Given the description of an element on the screen output the (x, y) to click on. 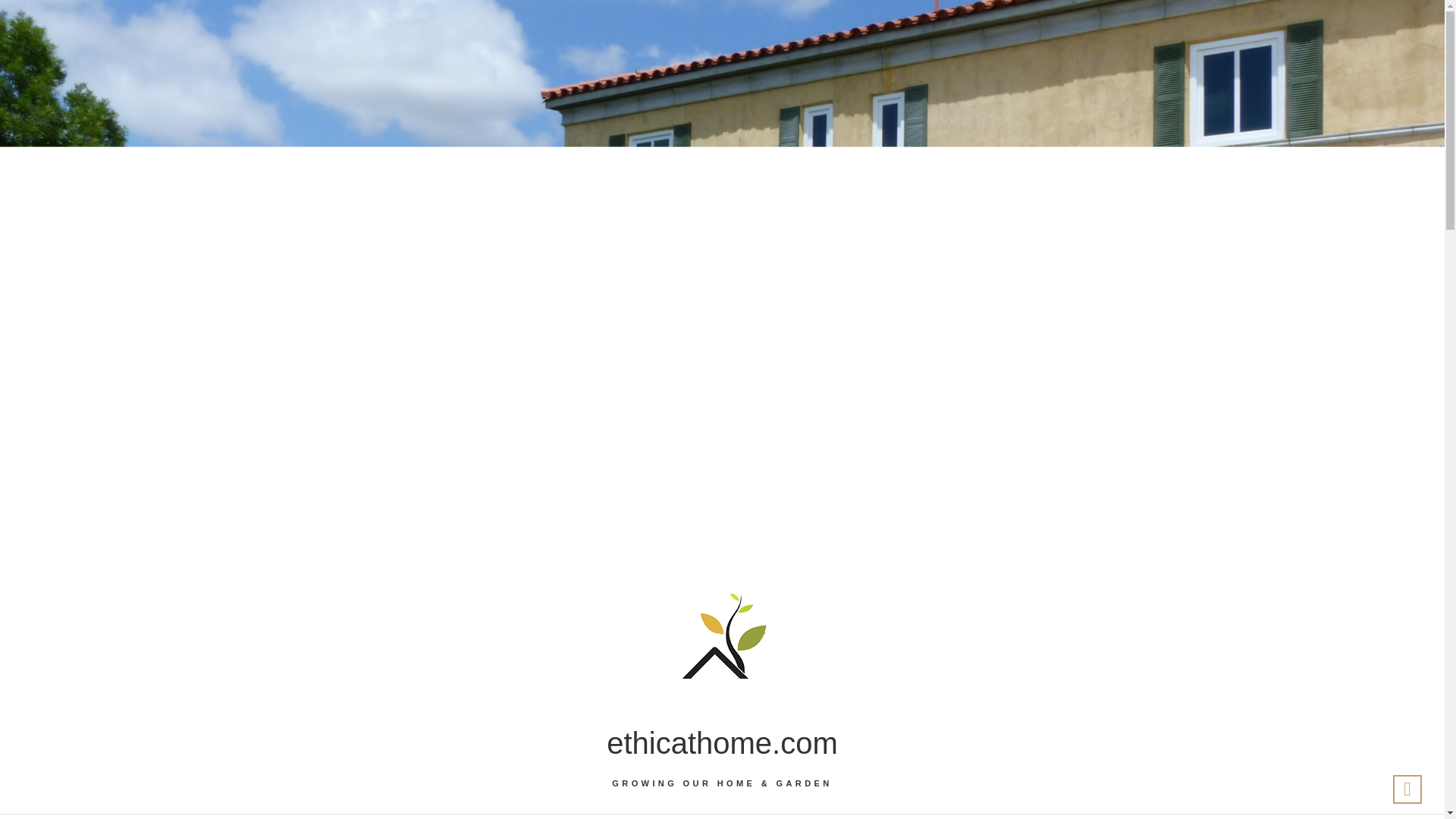
OUTDOOR LIVING (760, 816)
ethicathome.com (721, 742)
ethicathome.com (721, 742)
GENERAL ARTICLE (900, 817)
GARDEN (575, 816)
Go to Top (1407, 788)
DESIGN (492, 816)
HOME (654, 816)
